Given the description of an element on the screen output the (x, y) to click on. 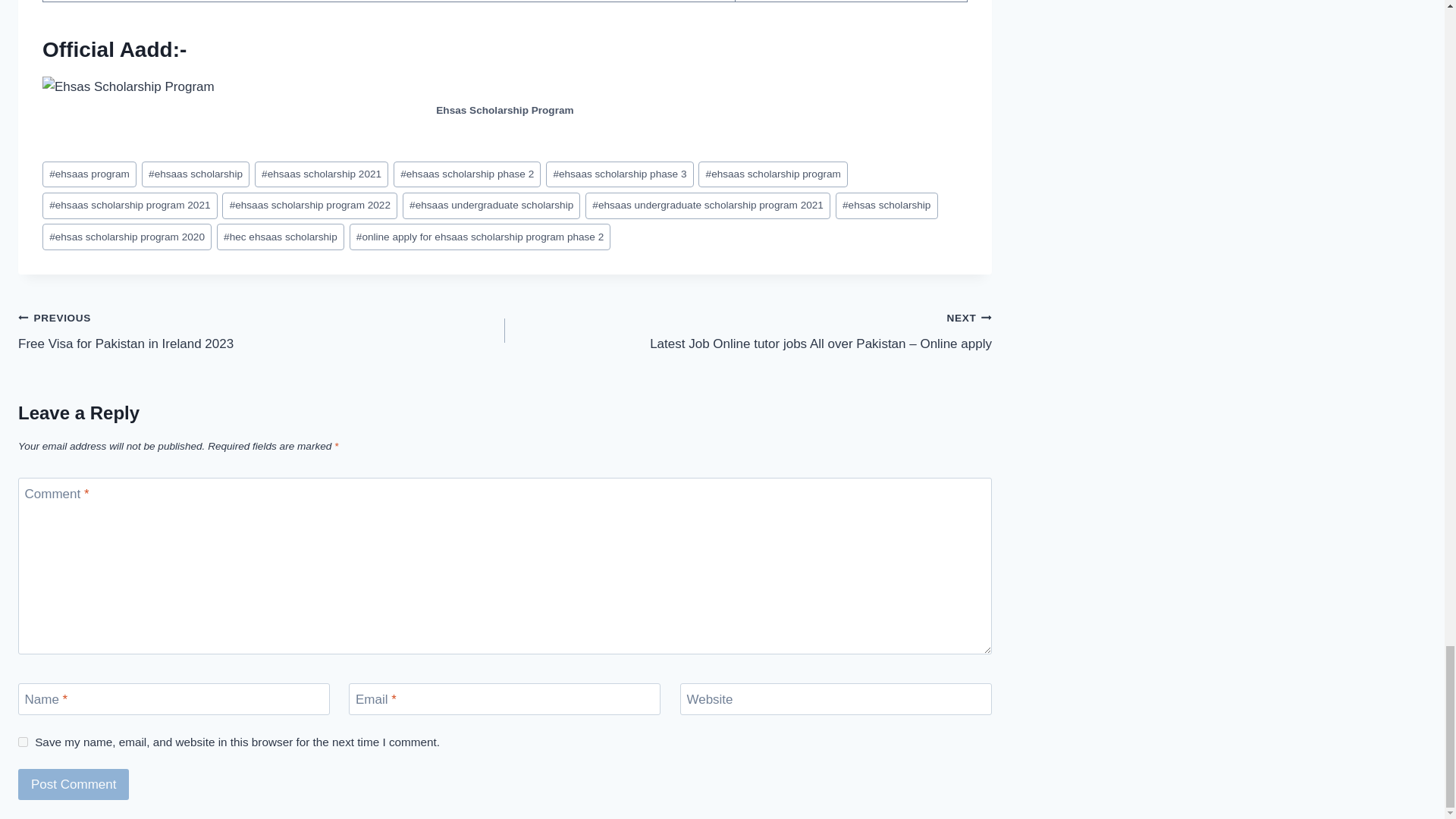
ehsaas program (89, 174)
ehsaas scholarship phase 2 (466, 174)
ehsaas scholarship (194, 174)
ehsaas scholarship program (772, 174)
ehsaas scholarship phase 3 (619, 174)
yes (22, 741)
Post Comment (73, 784)
ehsaas scholarship 2021 (321, 174)
